Given the description of an element on the screen output the (x, y) to click on. 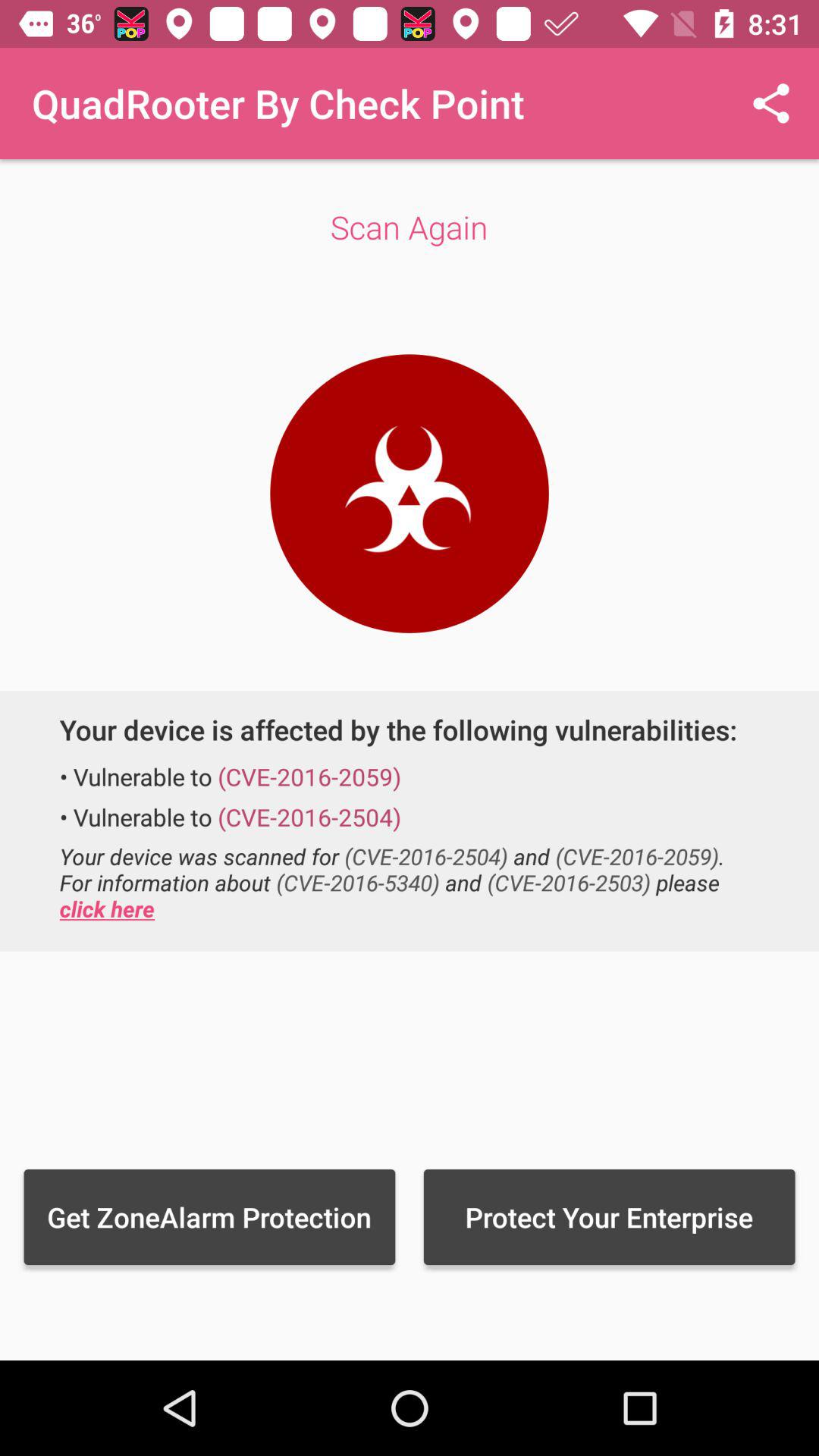
launch the protect your enterprise icon (609, 1216)
